Given the description of an element on the screen output the (x, y) to click on. 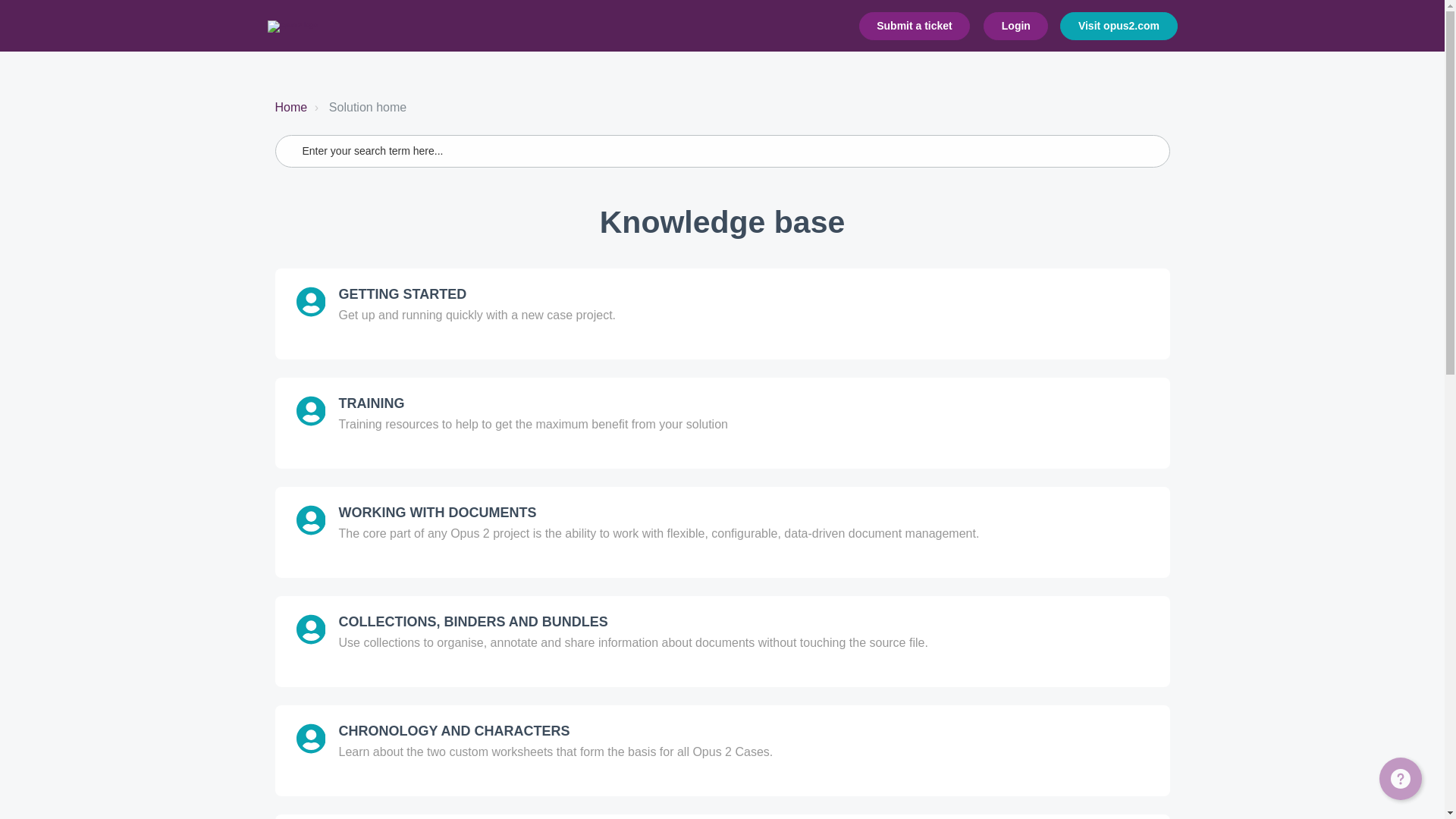
Opus 2 logo (291, 26)
Login (1016, 26)
Home (291, 106)
Solution home (359, 107)
Submit a ticket (915, 26)
Visit opus2.com (1117, 26)
